Given the description of an element on the screen output the (x, y) to click on. 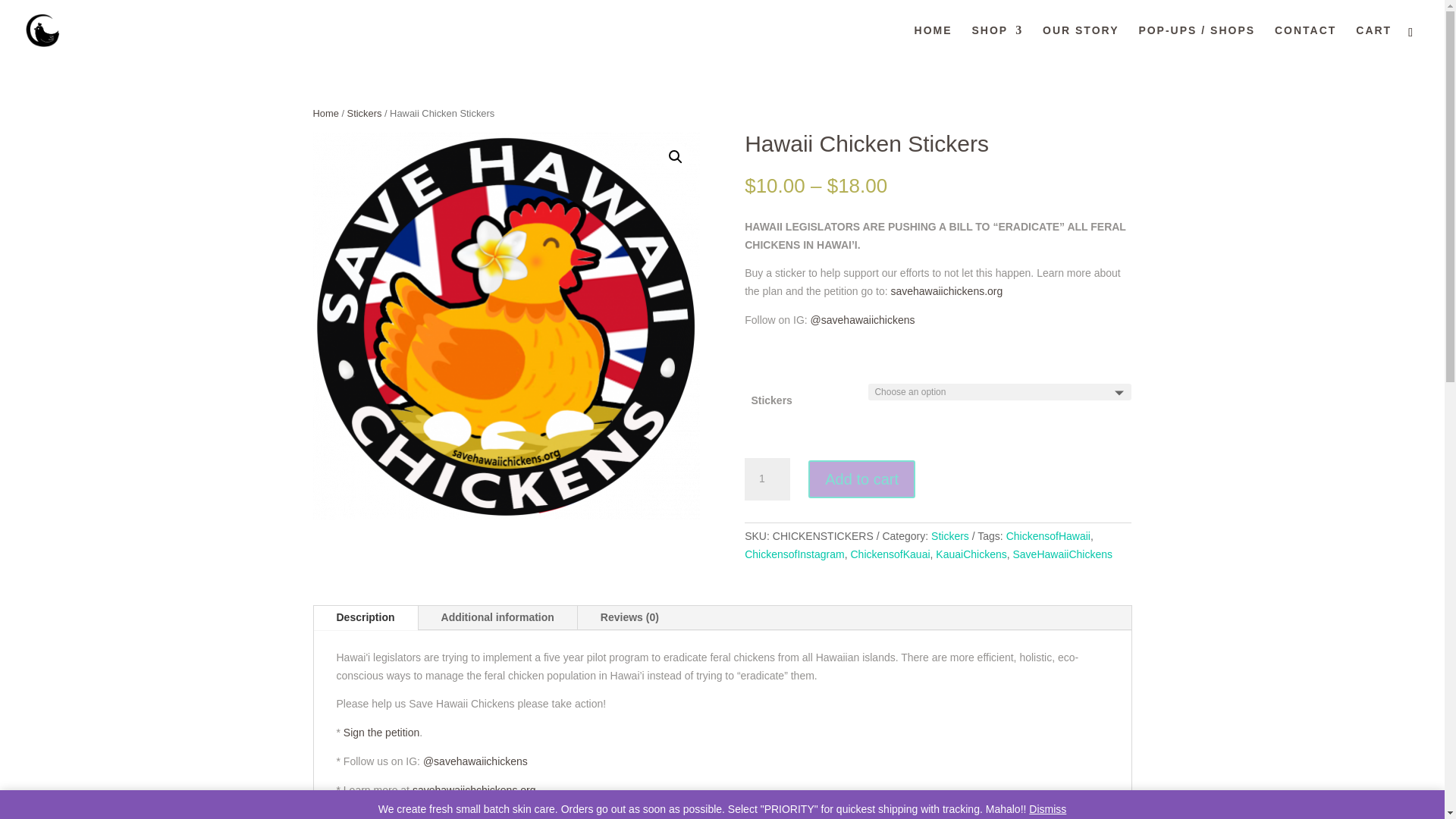
1 (767, 478)
CART (1373, 42)
Stickers (364, 112)
HOME (933, 42)
CONTACT (1305, 42)
OUR STORY (1080, 42)
Home (325, 112)
SHOP (997, 42)
